Given the description of an element on the screen output the (x, y) to click on. 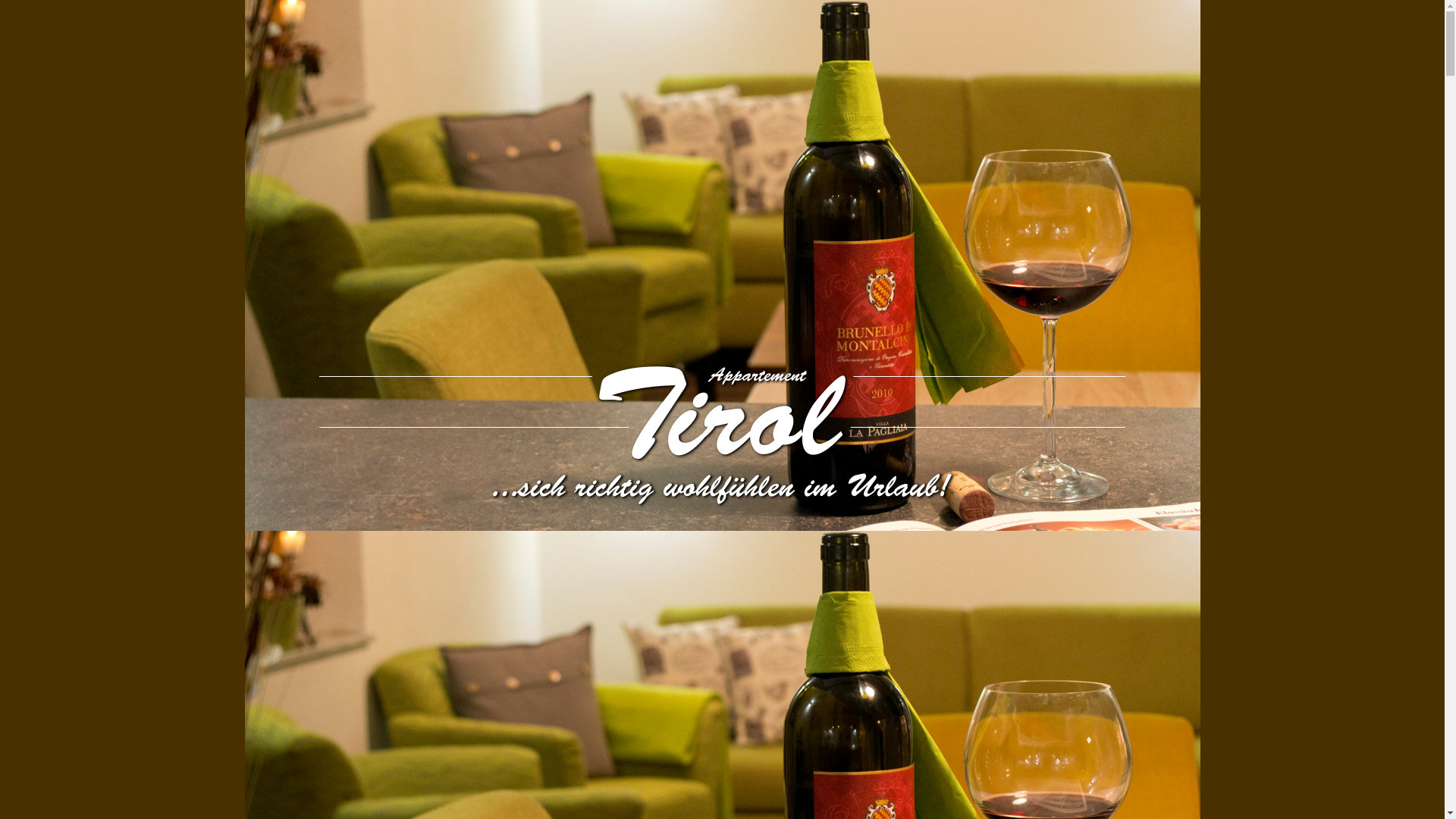
Suche Element type: text (38, 13)
